Given the description of an element on the screen output the (x, y) to click on. 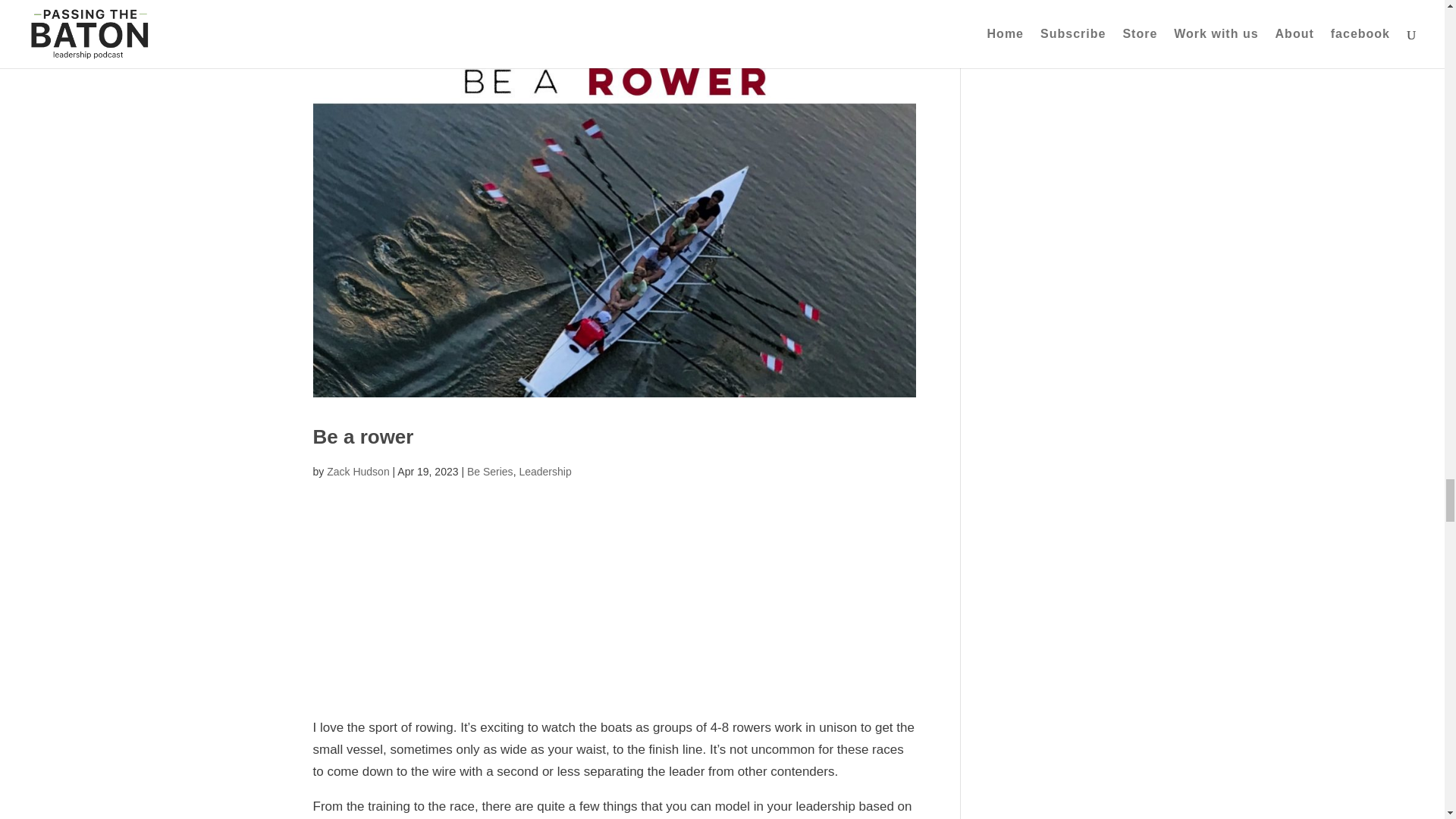
Embed Player (614, 585)
Posts by Zack Hudson (357, 471)
